Given the description of an element on the screen output the (x, y) to click on. 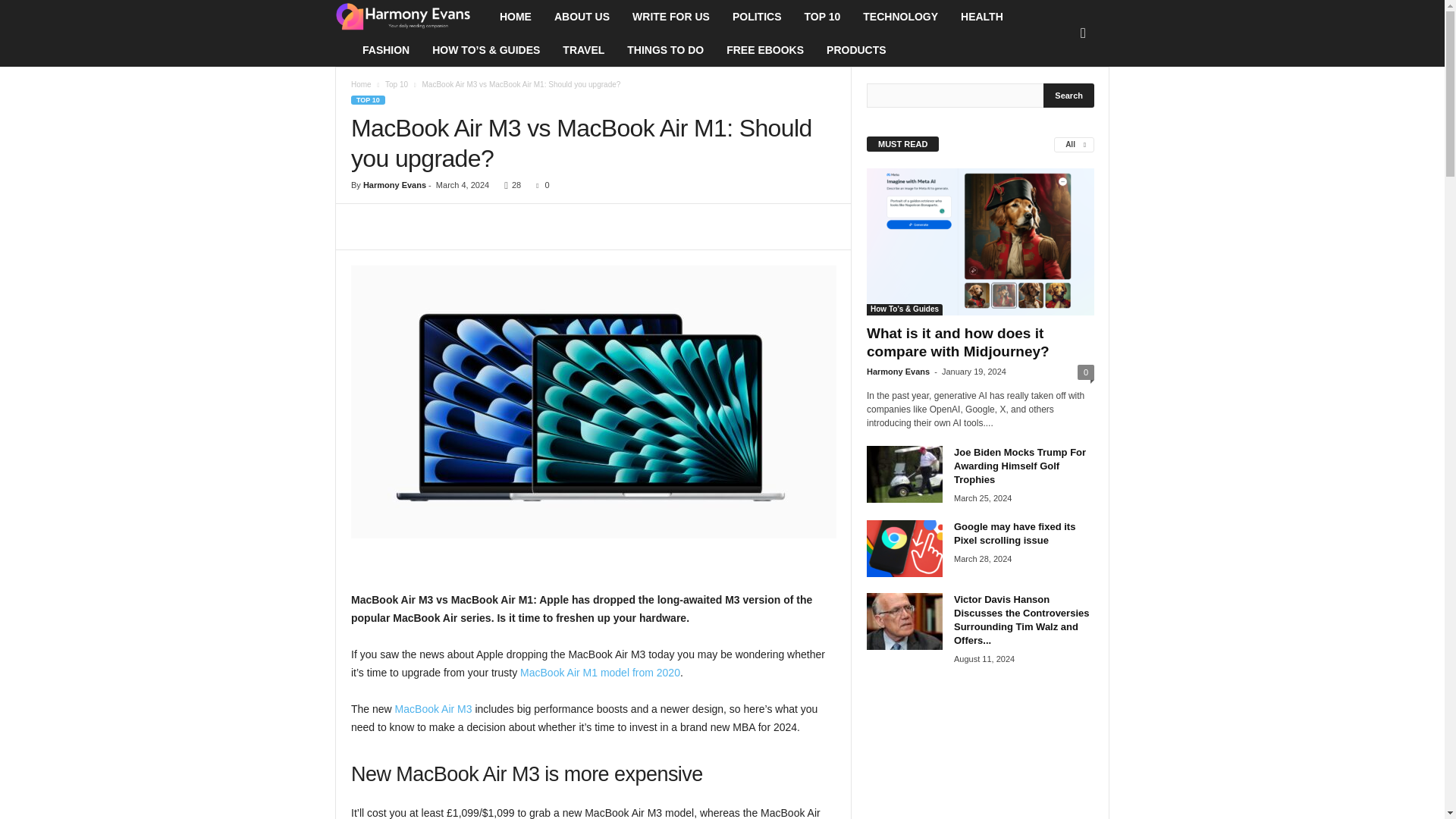
POLITICS (756, 16)
TOP 10 (822, 16)
THINGS TO DO (664, 49)
ABOUT US (582, 16)
Search (1068, 95)
Apple-MacBook-Air-2-up-front-240304-scaled.jpg (592, 401)
PRODUCTS (856, 49)
View all posts in Top 10 (396, 84)
HEALTH (981, 16)
WRITE FOR US (670, 16)
